Given the description of an element on the screen output the (x, y) to click on. 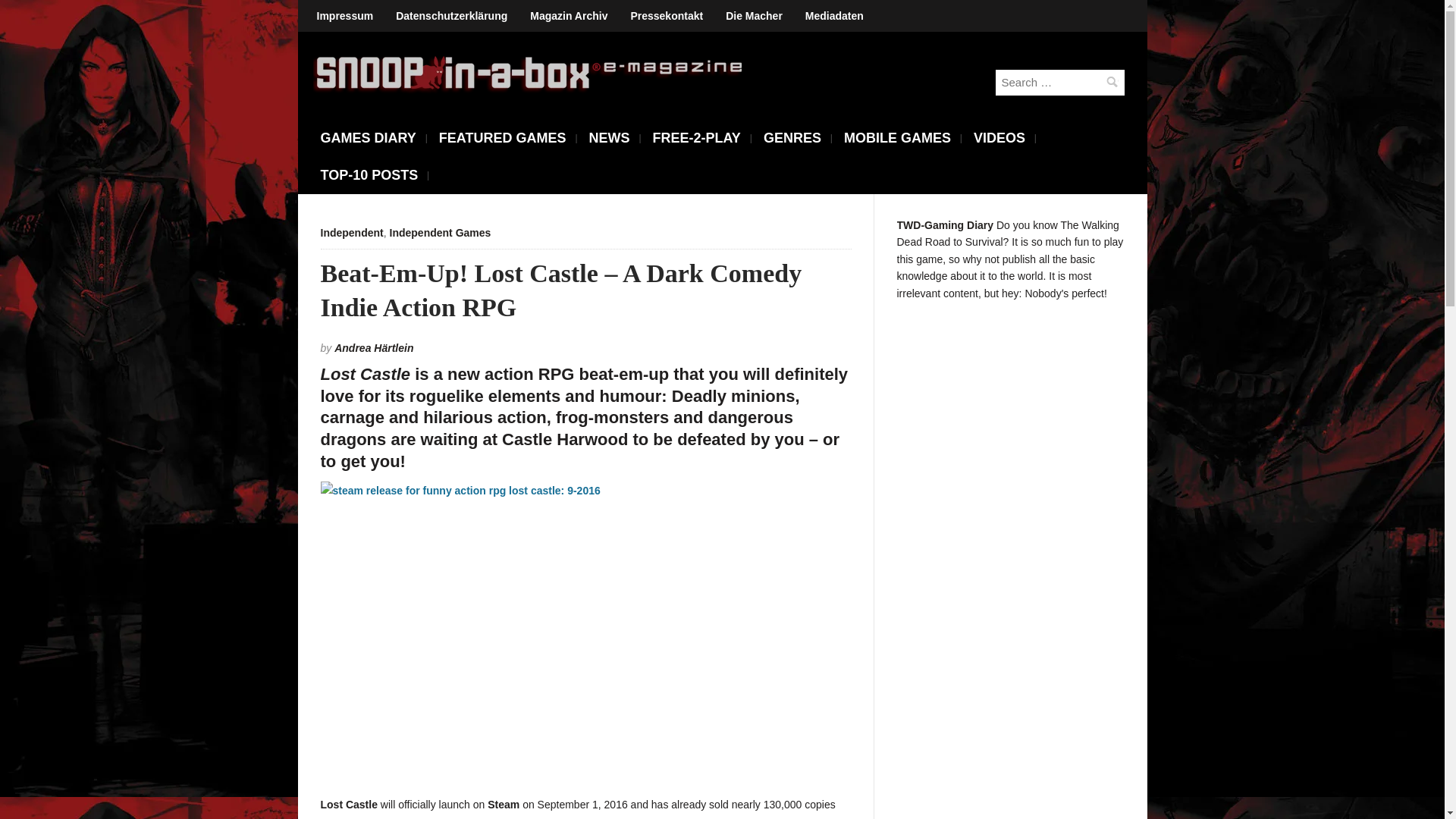
free e-magazine for news and trends in gaming! (529, 74)
Suche (1111, 81)
Magazin Archiv (568, 15)
Suche (1111, 81)
Mediadaten (834, 15)
Pressekontakt (666, 15)
Die Macher (753, 15)
Suche nach: (1059, 82)
Impressum (344, 15)
Suche (1111, 81)
